Given the description of an element on the screen output the (x, y) to click on. 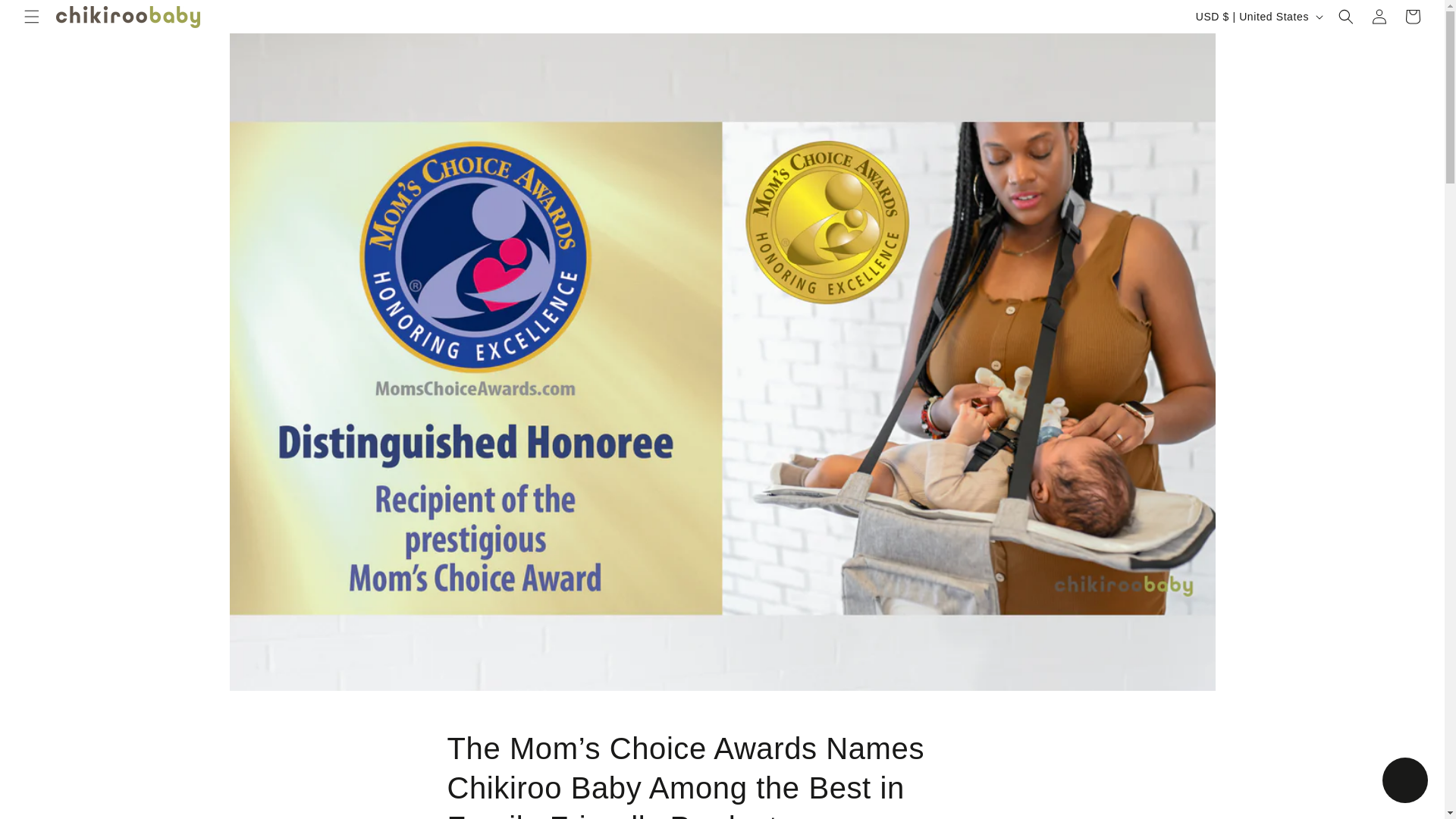
Cart (1412, 16)
Shopify online store chat (1404, 781)
Log in (1379, 16)
Skip to content (45, 17)
